Given the description of an element on the screen output the (x, y) to click on. 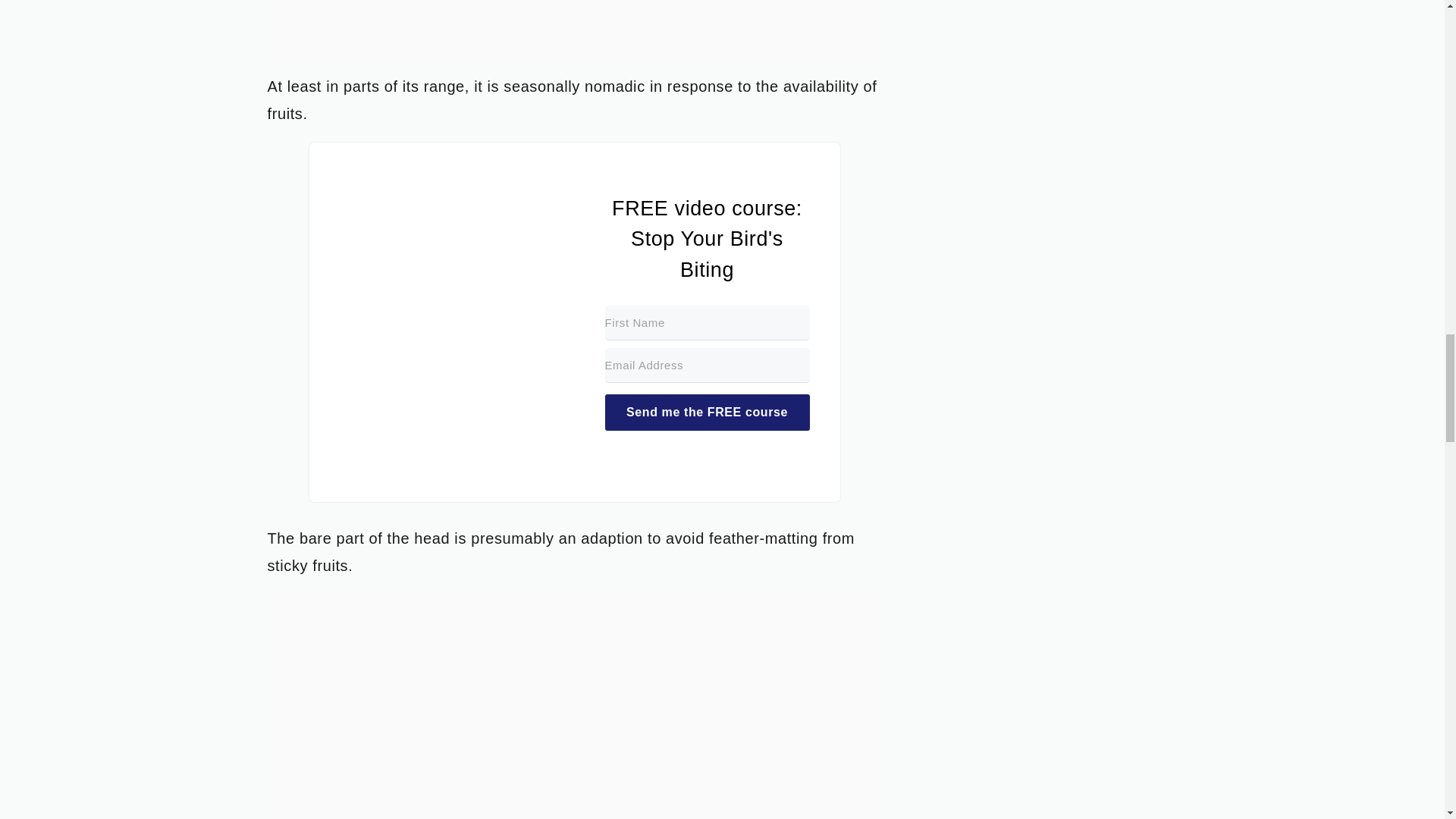
Send me the FREE course (707, 411)
